Given the description of an element on the screen output the (x, y) to click on. 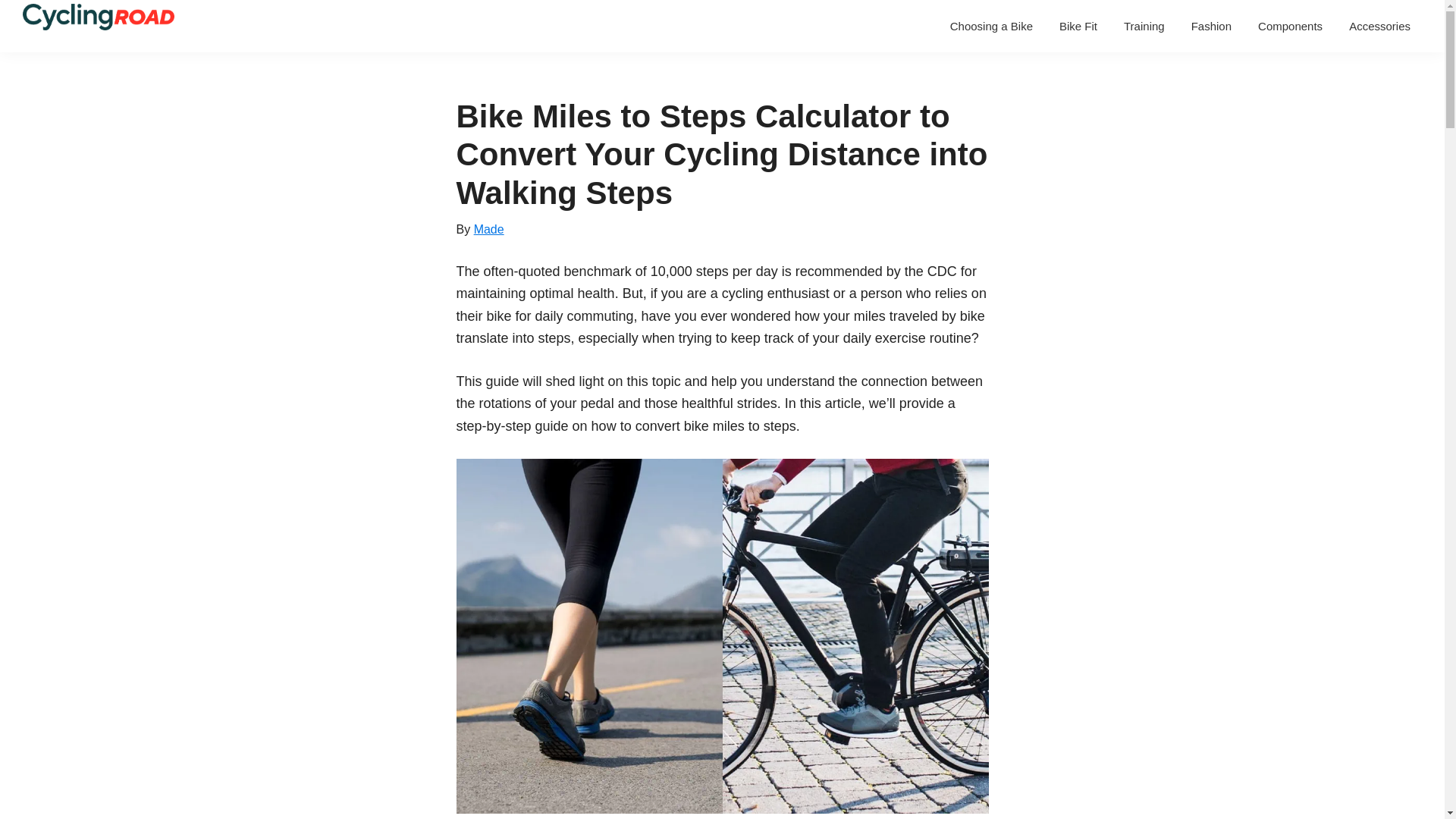
Accessories (1380, 25)
Choosing a Bike (991, 25)
Made (488, 228)
Components (1289, 25)
Fashion (1211, 25)
Bike Fit (1078, 25)
Training (1144, 25)
